Given the description of an element on the screen output the (x, y) to click on. 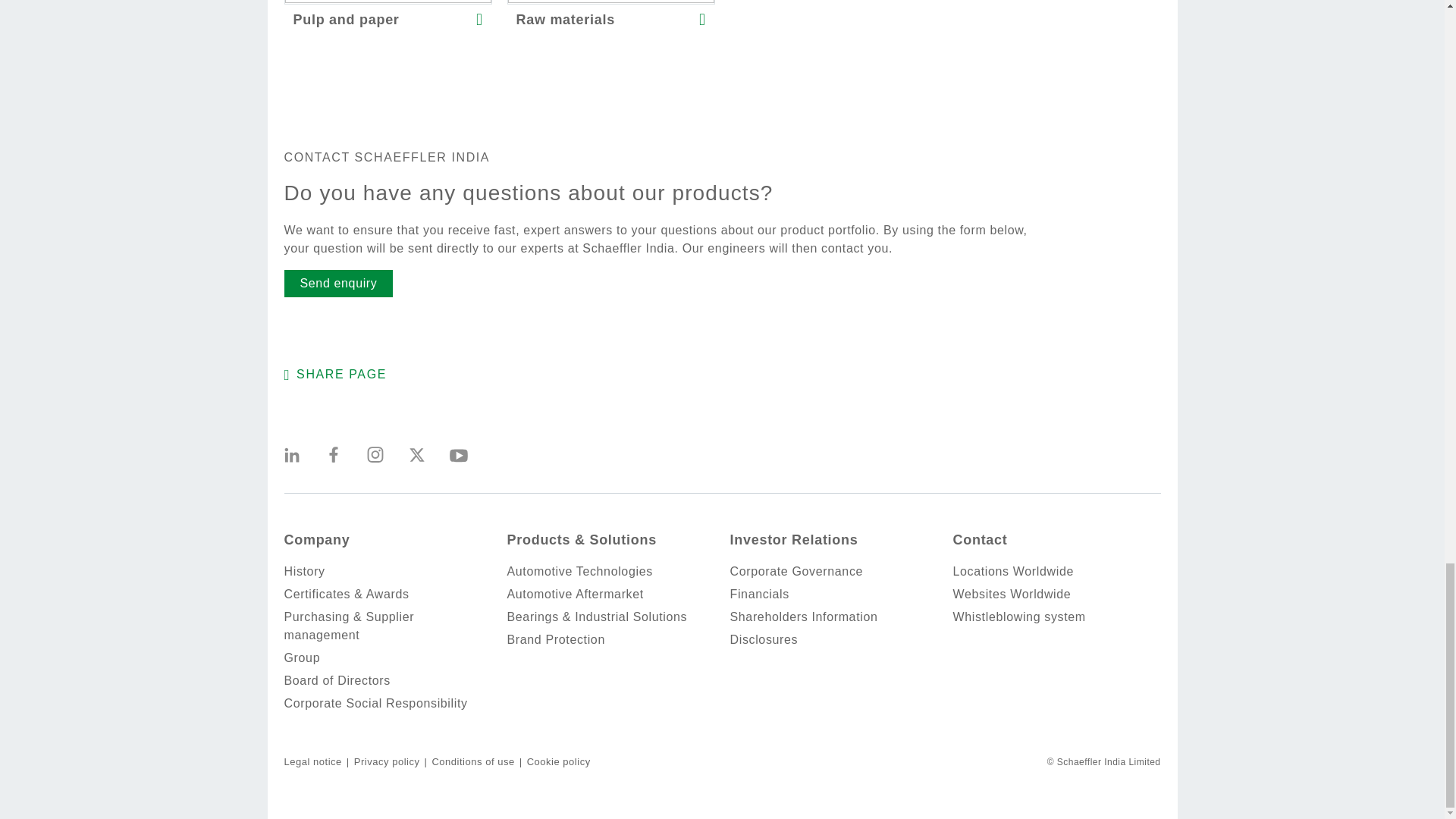
History (387, 571)
Corporate Social Responsibility (387, 703)
Send enquiry (338, 283)
Board of Directors (387, 680)
Company (316, 539)
Group (387, 658)
